Given the description of an element on the screen output the (x, y) to click on. 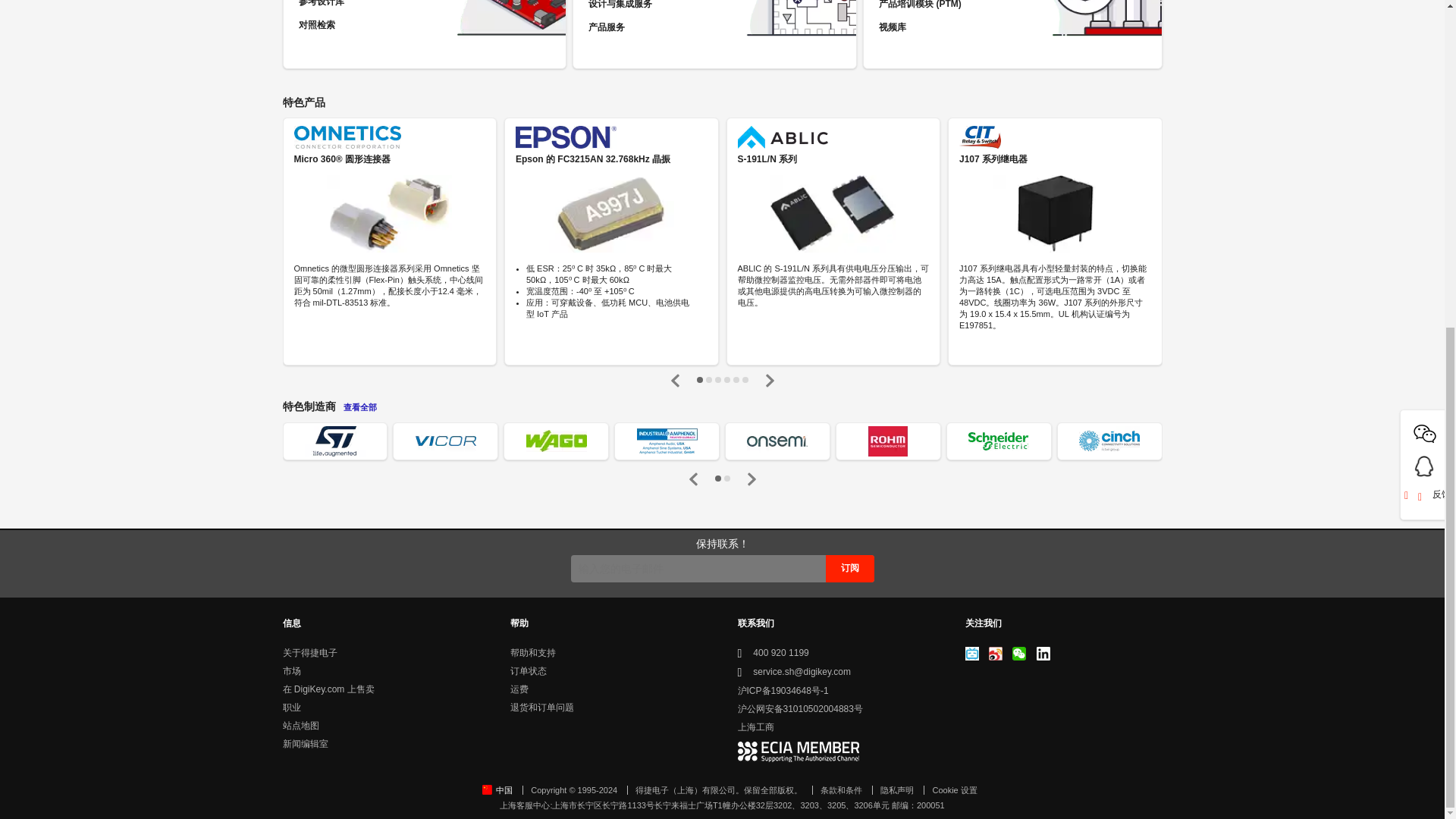
Image of onsemi logo (777, 440)
Image of ROHM Semiconductor logo (887, 440)
Image of Vicor color logo (445, 440)
Image of STMicroelectronics color logo (334, 440)
Image of Schneider Electric logo (998, 440)
Image of WAGO logo (555, 440)
Image of Amphenol Sine Systems color (667, 440)
Image of Cinch Connectivity Solutions logo (1109, 440)
